Given the description of an element on the screen output the (x, y) to click on. 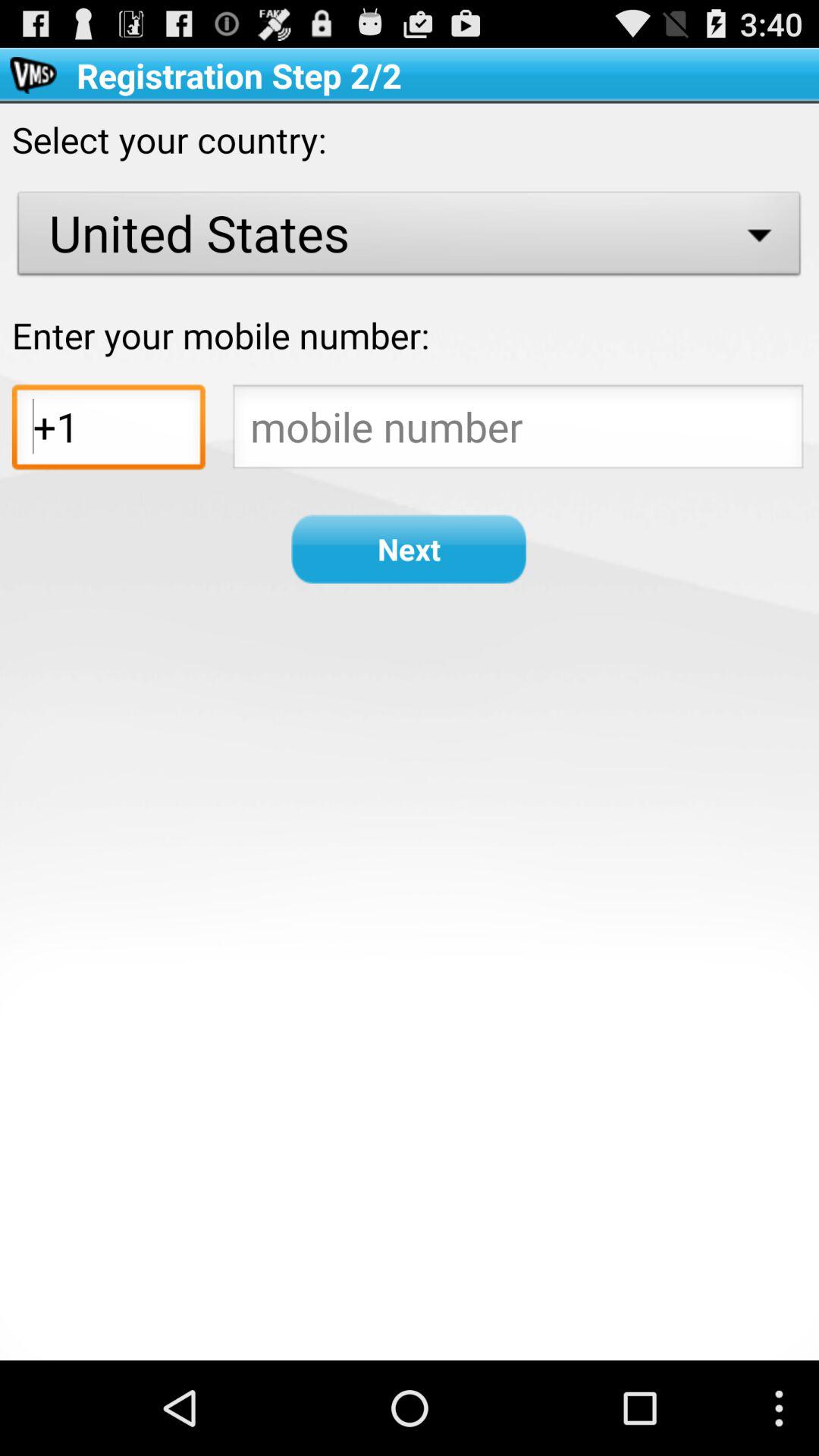
type phone nuumber (518, 430)
